Given the description of an element on the screen output the (x, y) to click on. 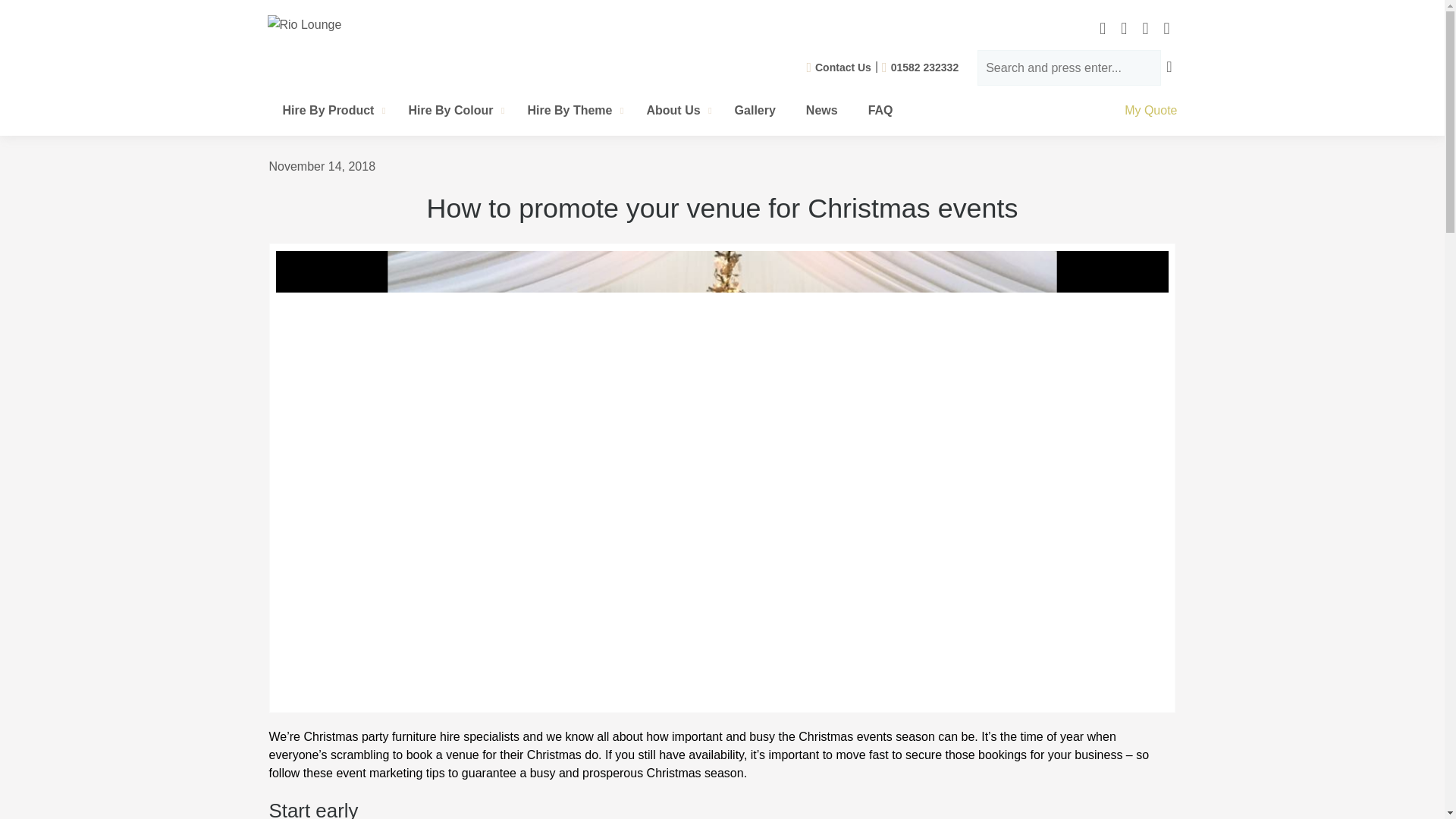
Hire By Colour (452, 110)
Hire By Product (329, 110)
Contact Us (838, 67)
01582 232332 (920, 67)
